Given the description of an element on the screen output the (x, y) to click on. 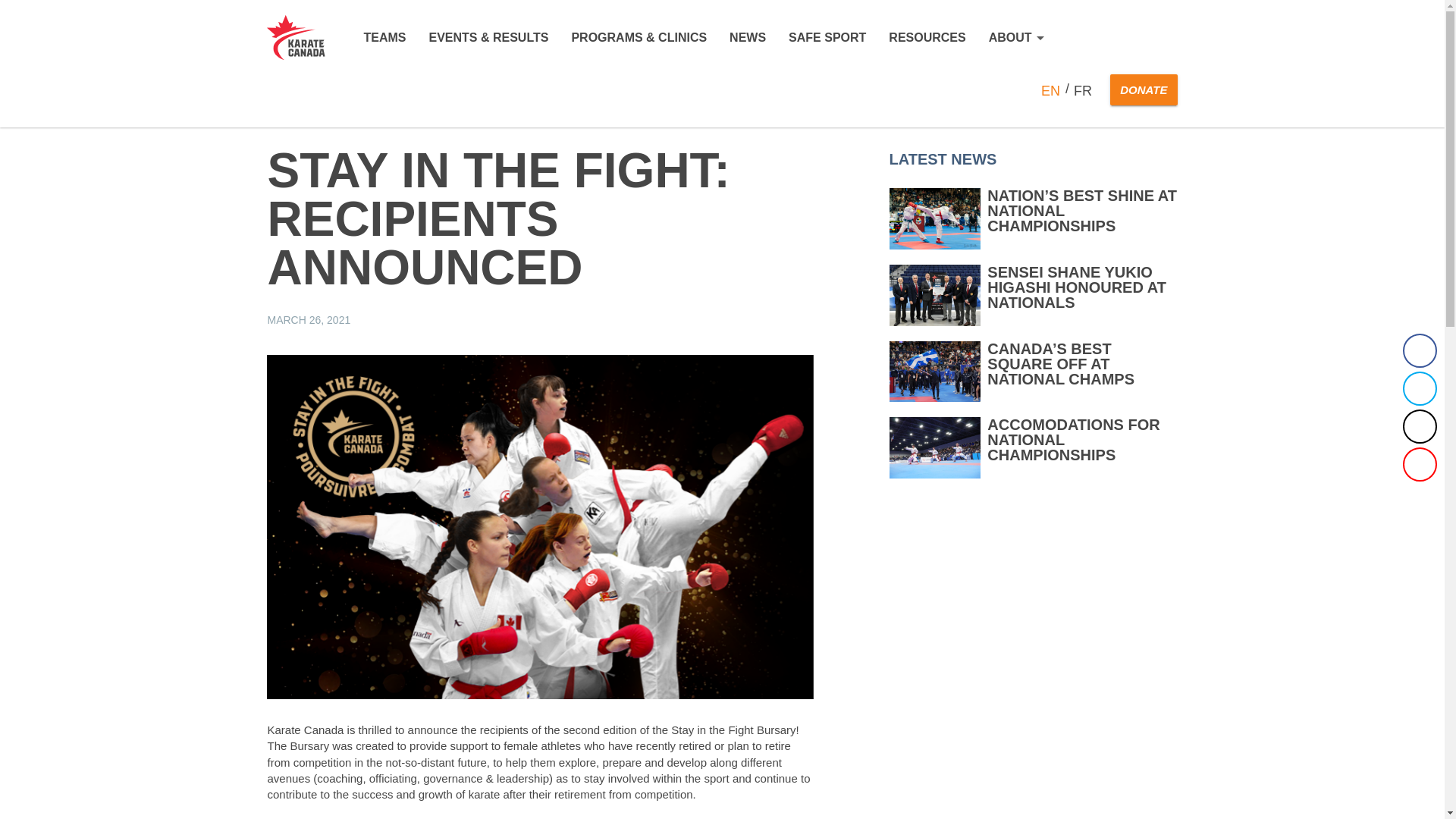
NEWS (747, 38)
RESOURCES (926, 38)
ABOUT (1015, 38)
SAFE SPORT (827, 38)
TEAMS (384, 38)
